Given the description of an element on the screen output the (x, y) to click on. 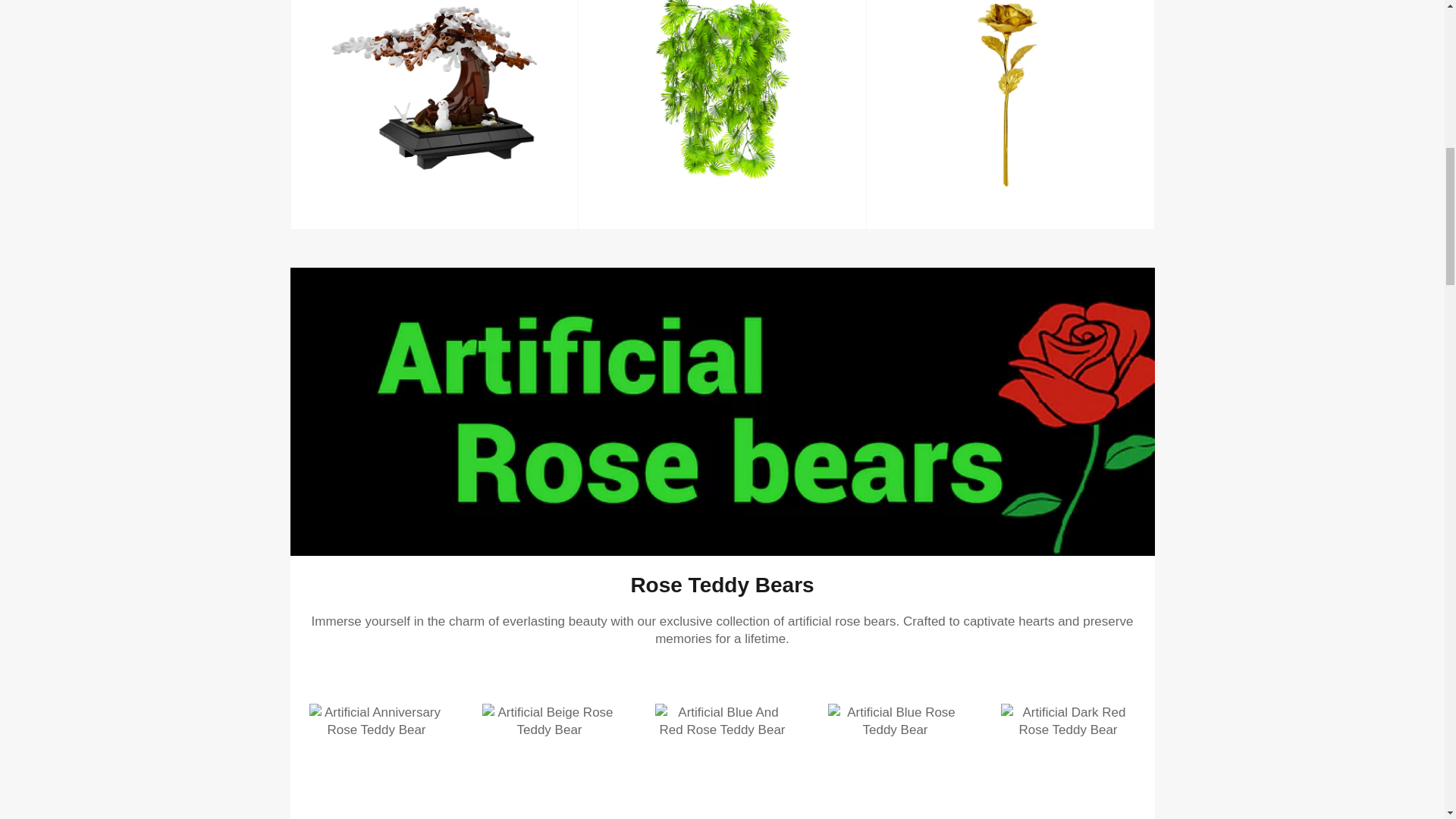
Browse our Lego Sets collection (433, 115)
Browse our Artificial Plants collection (722, 115)
Browse our Artificial Flowers collection (1010, 115)
